Given the description of an element on the screen output the (x, y) to click on. 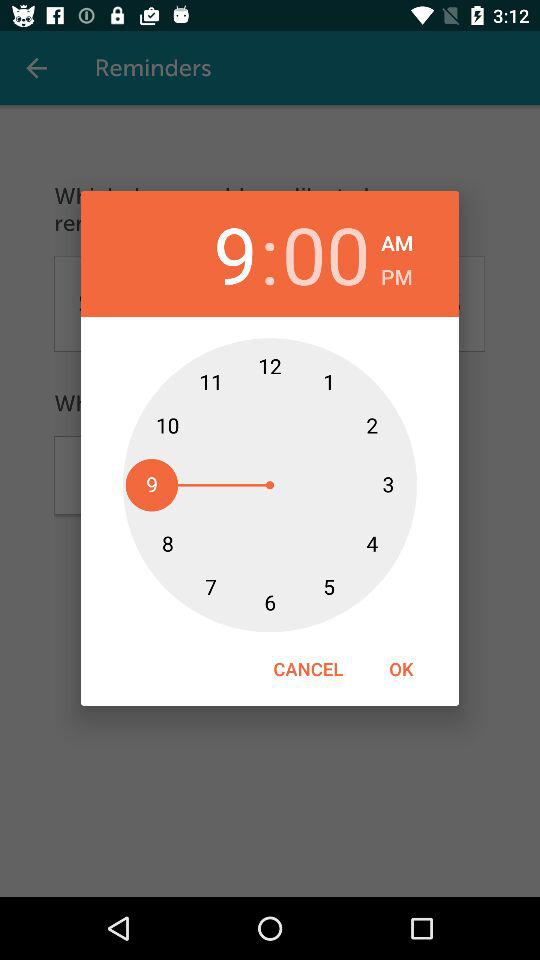
swipe to the am (397, 240)
